Given the description of an element on the screen output the (x, y) to click on. 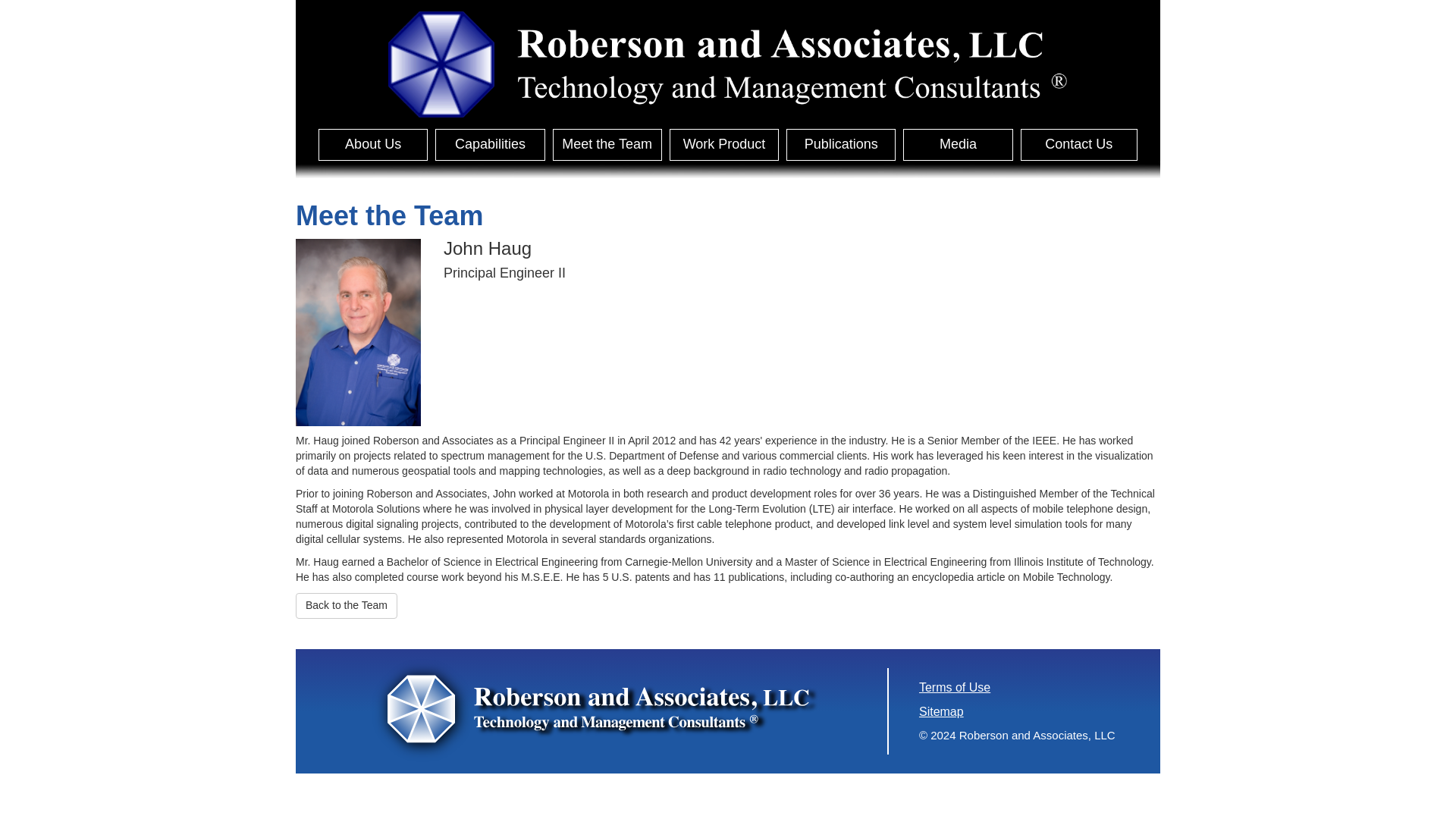
Sitemap (940, 711)
About Us (373, 144)
Capabilities (489, 144)
Back to the Team (346, 605)
Publications (840, 144)
Media (956, 144)
Contact Us (1078, 144)
Terms of Use (954, 686)
Meet the Team (607, 144)
Work Product (723, 144)
